Given the description of an element on the screen output the (x, y) to click on. 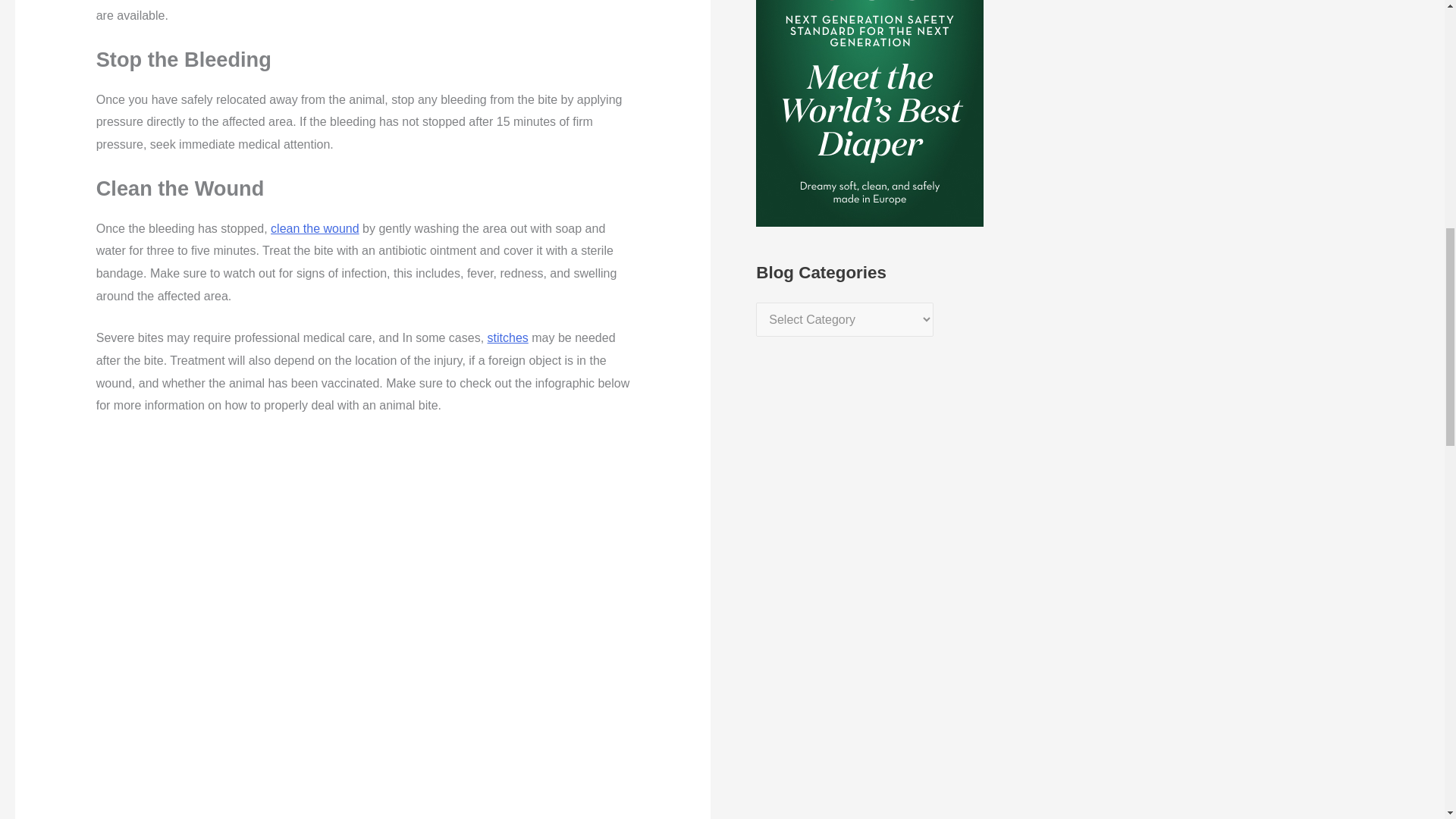
Award Winning Diaper  (869, 2)
